Given the description of an element on the screen output the (x, y) to click on. 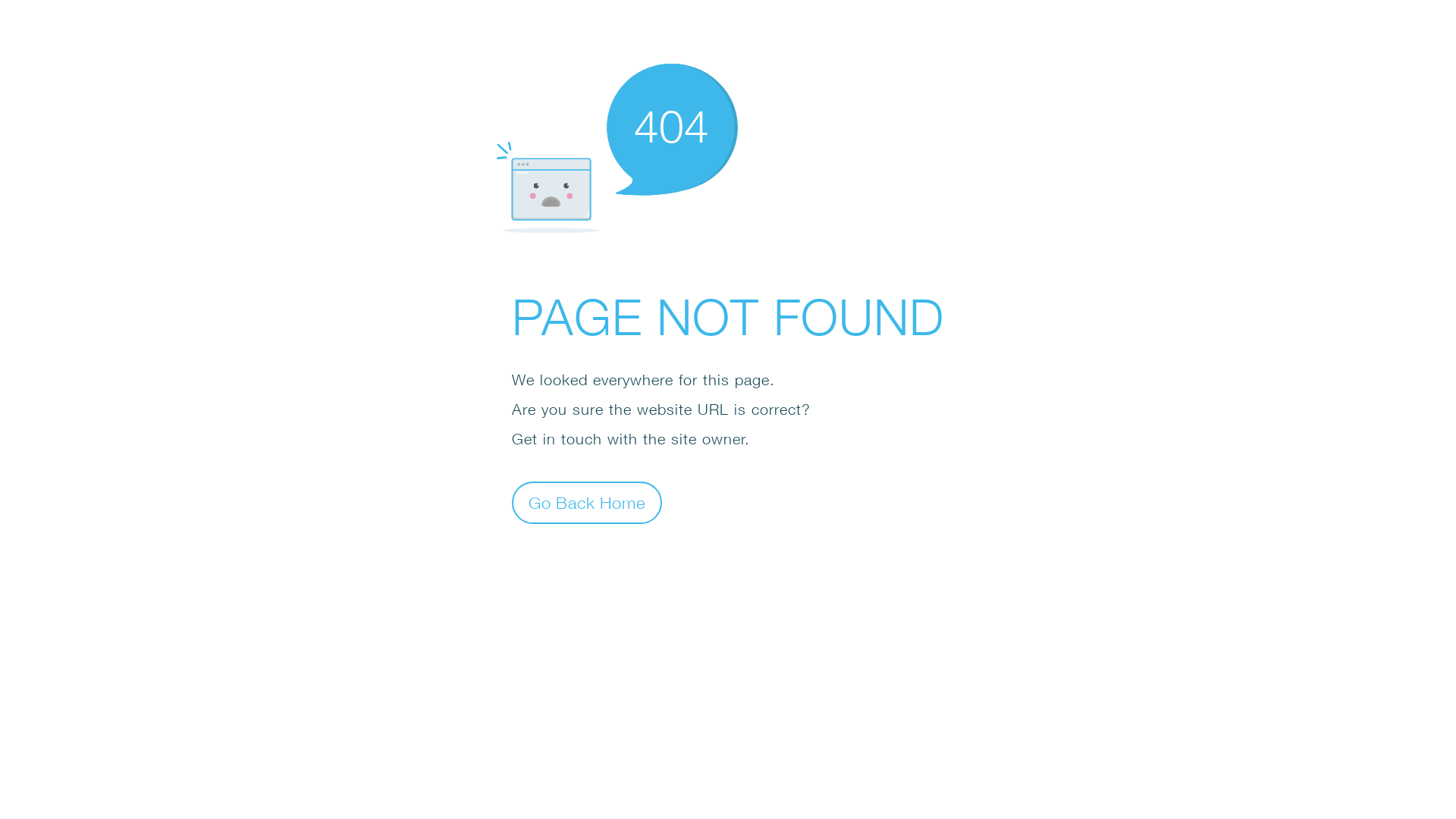
Go Back Home Element type: text (586, 502)
